Given the description of an element on the screen output the (x, y) to click on. 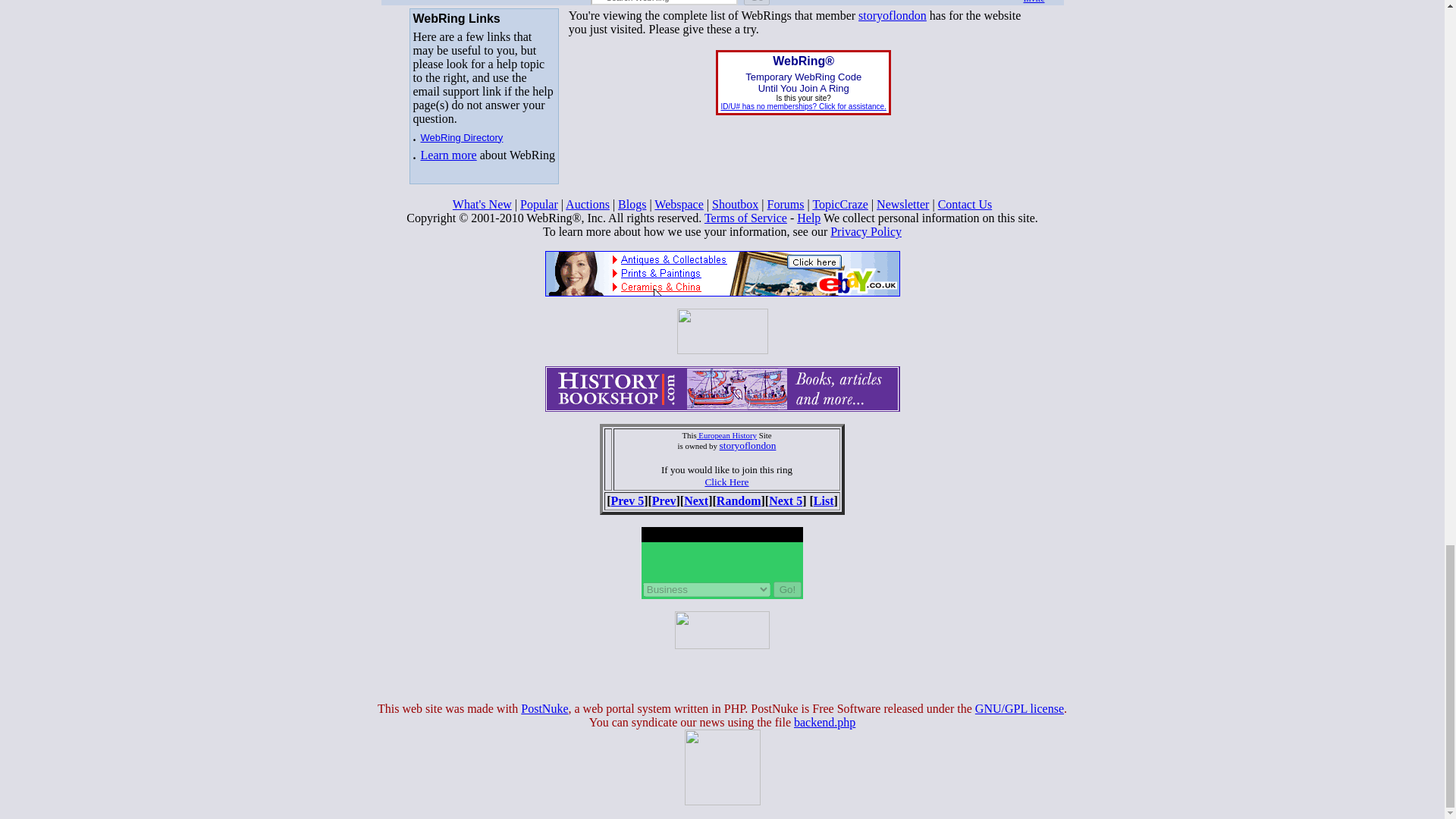
Go! (787, 589)
Go (757, 2)
Enter a few keywords to search with (664, 2)
Search WebRing (664, 2)
